Given the description of an element on the screen output the (x, y) to click on. 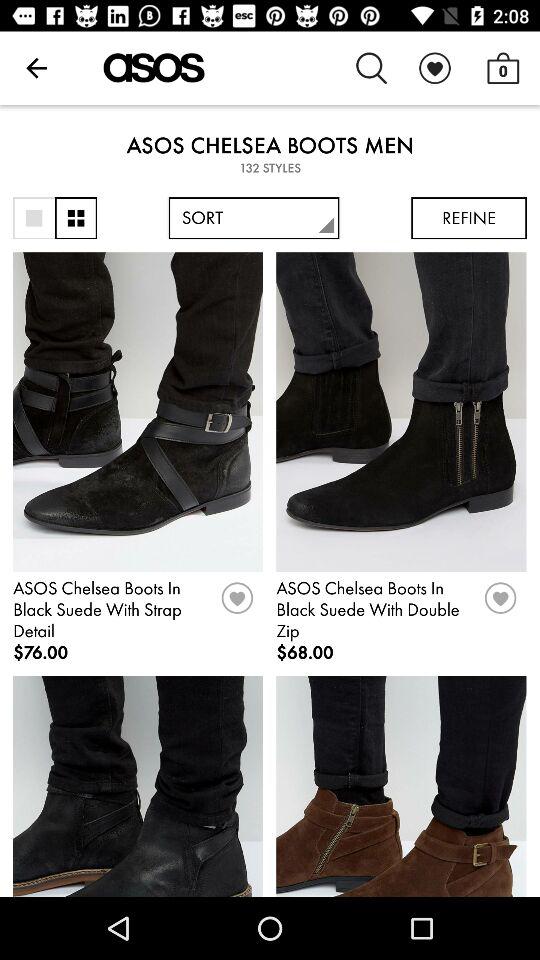
turn on item to the right of sort icon (468, 218)
